Given the description of an element on the screen output the (x, y) to click on. 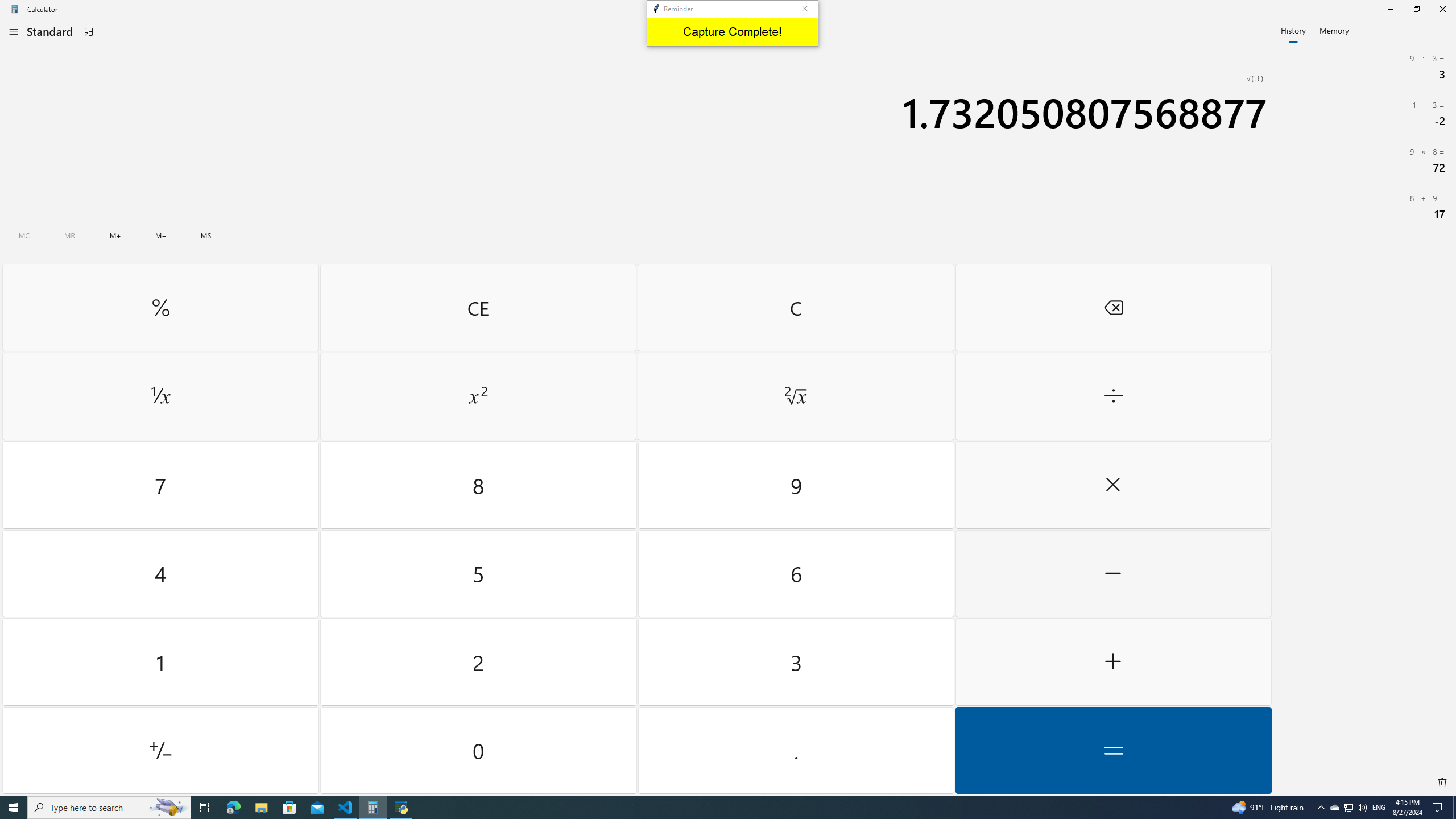
Reciprocal (160, 396)
Seven (160, 485)
Minus (1113, 572)
Nine (795, 485)
Decimal separator (795, 749)
1 Minus ( 3= Minus (2 (1364, 113)
Plus (1113, 661)
Three (795, 661)
